Given the description of an element on the screen output the (x, y) to click on. 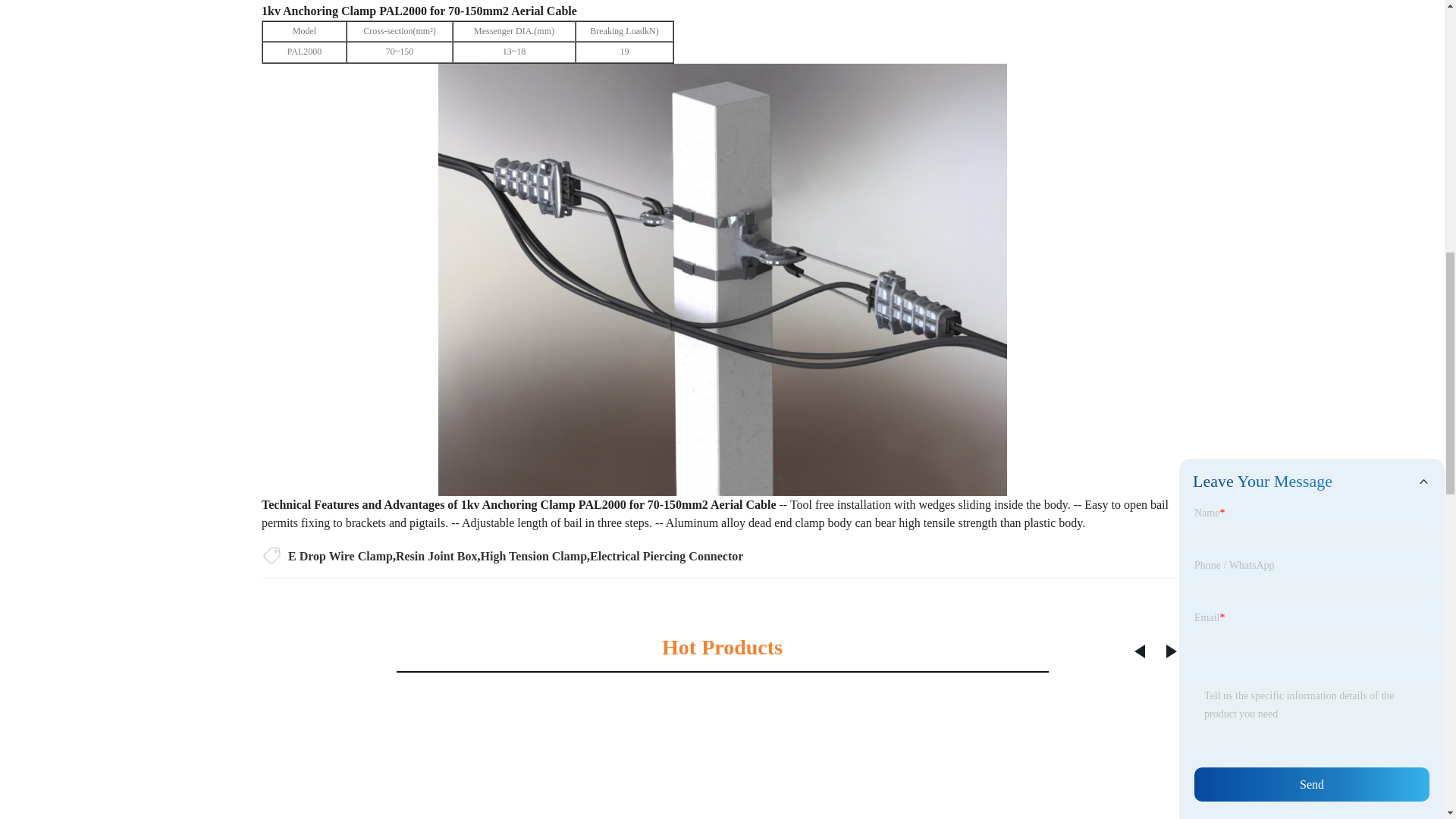
High Tension Clamp (534, 555)
E Drop Wire Clamp (340, 555)
Resin Joint Box (436, 555)
Electrical Piercing Connector (665, 555)
